Given the description of an element on the screen output the (x, y) to click on. 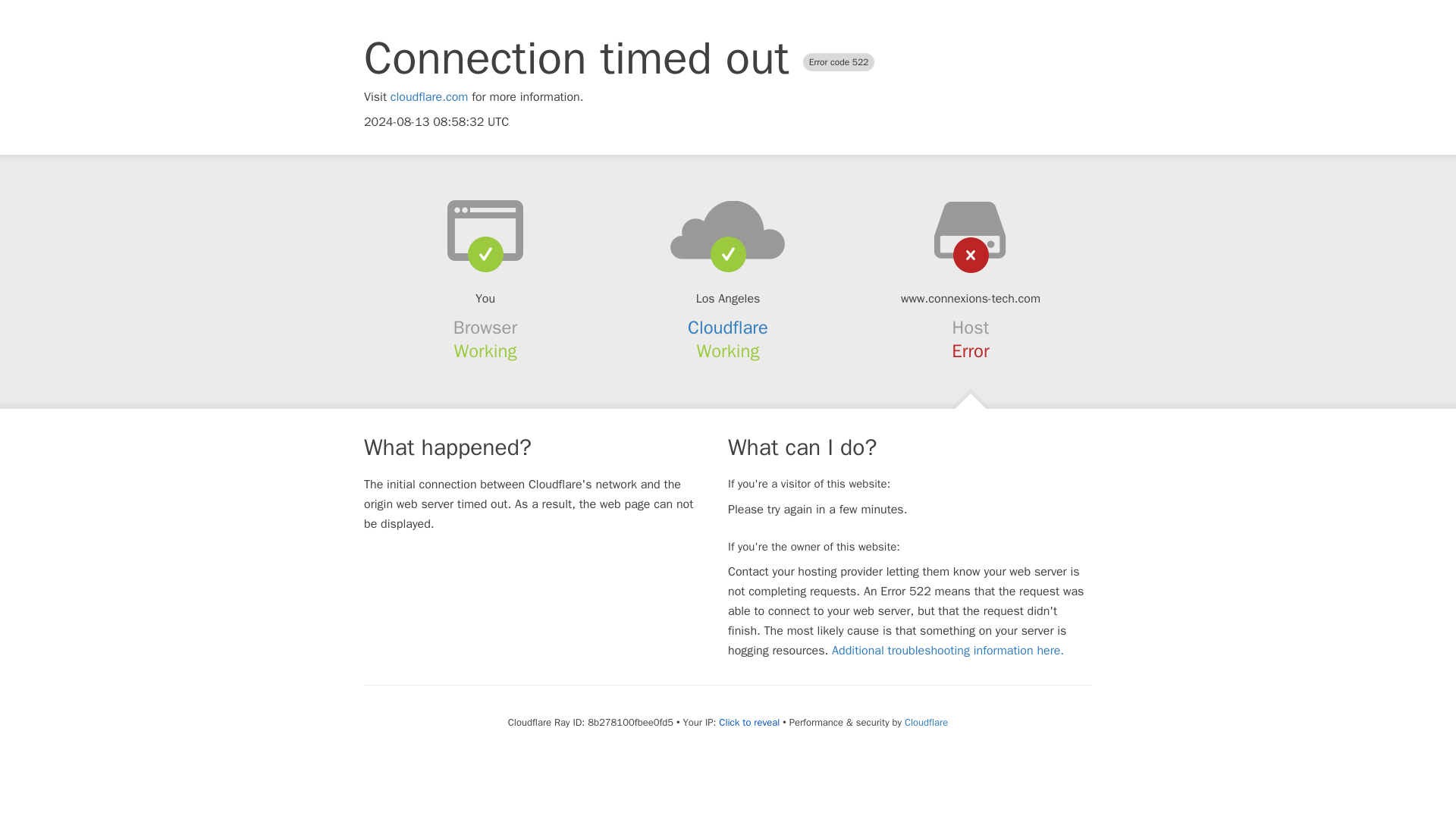
cloudflare.com (429, 96)
Cloudflare (925, 721)
Cloudflare (727, 327)
Click to reveal (748, 722)
Additional troubleshooting information here. (947, 650)
